Given the description of an element on the screen output the (x, y) to click on. 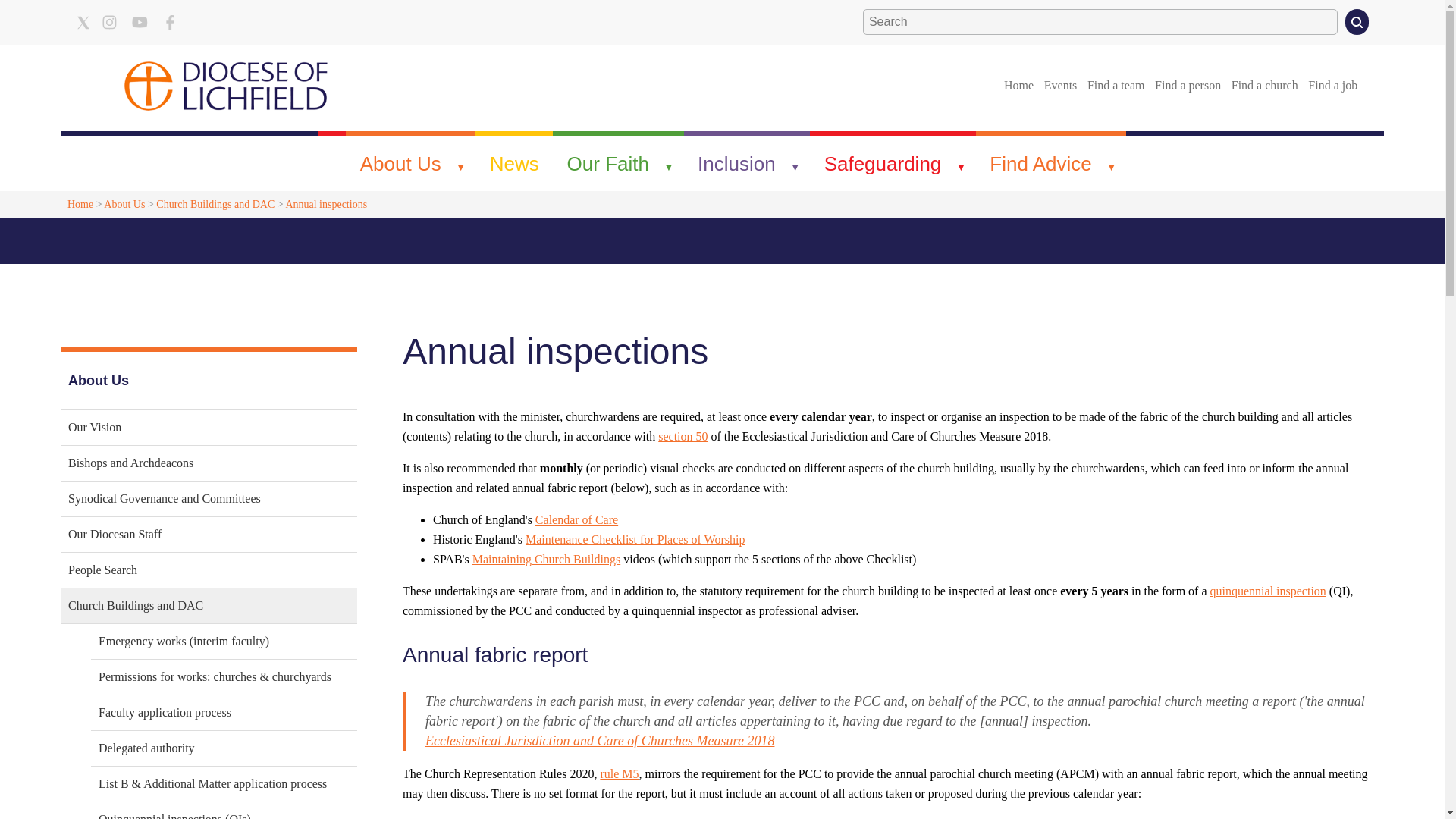
Find a job (1332, 84)
Find a team (1115, 84)
Logo (226, 85)
Find a person (1187, 84)
Home (1018, 84)
Find a church (1264, 84)
